Given the description of an element on the screen output the (x, y) to click on. 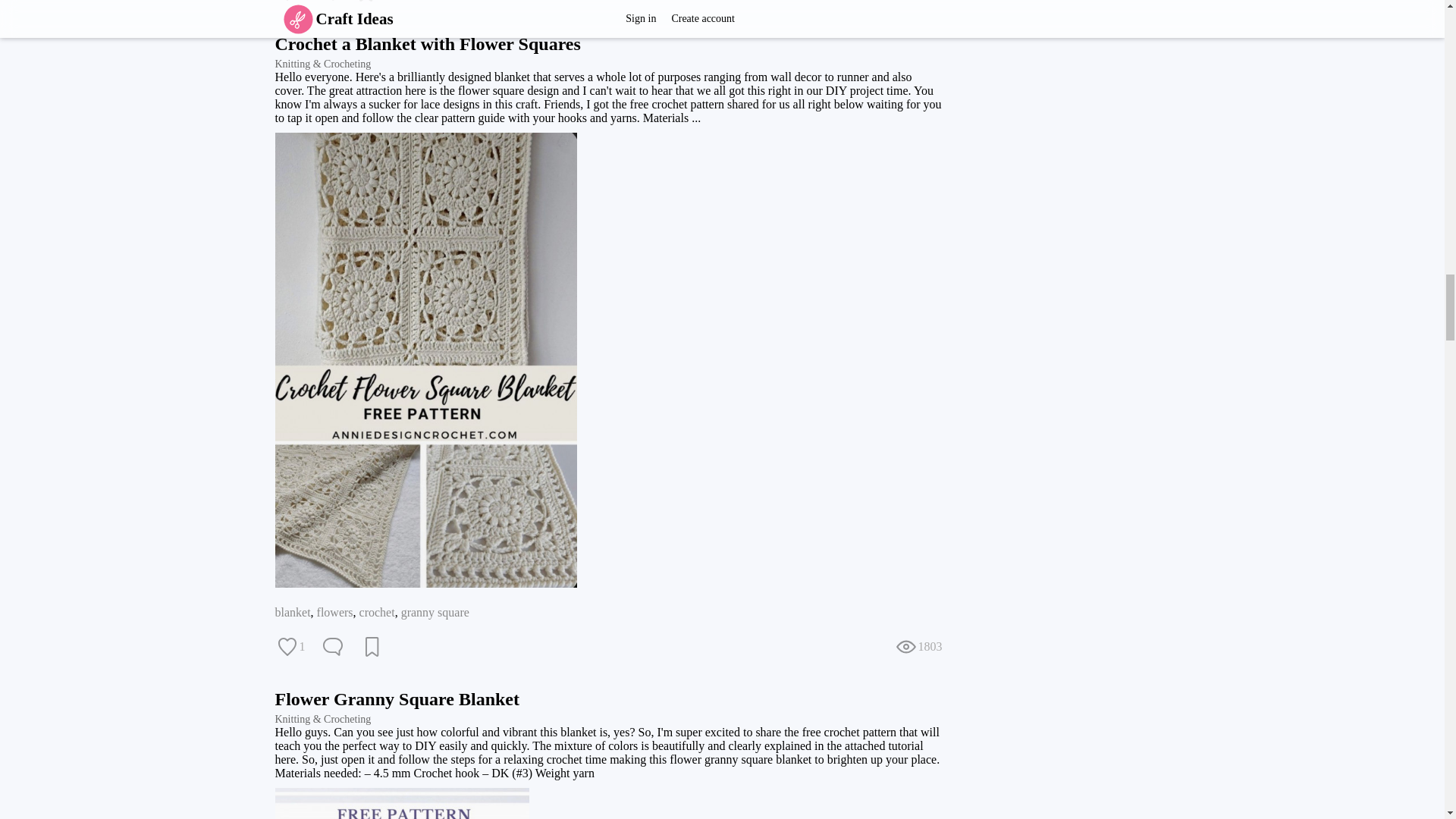
Comments (331, 646)
Comments (325, 2)
Views (917, 2)
Views (917, 646)
